Given the description of an element on the screen output the (x, y) to click on. 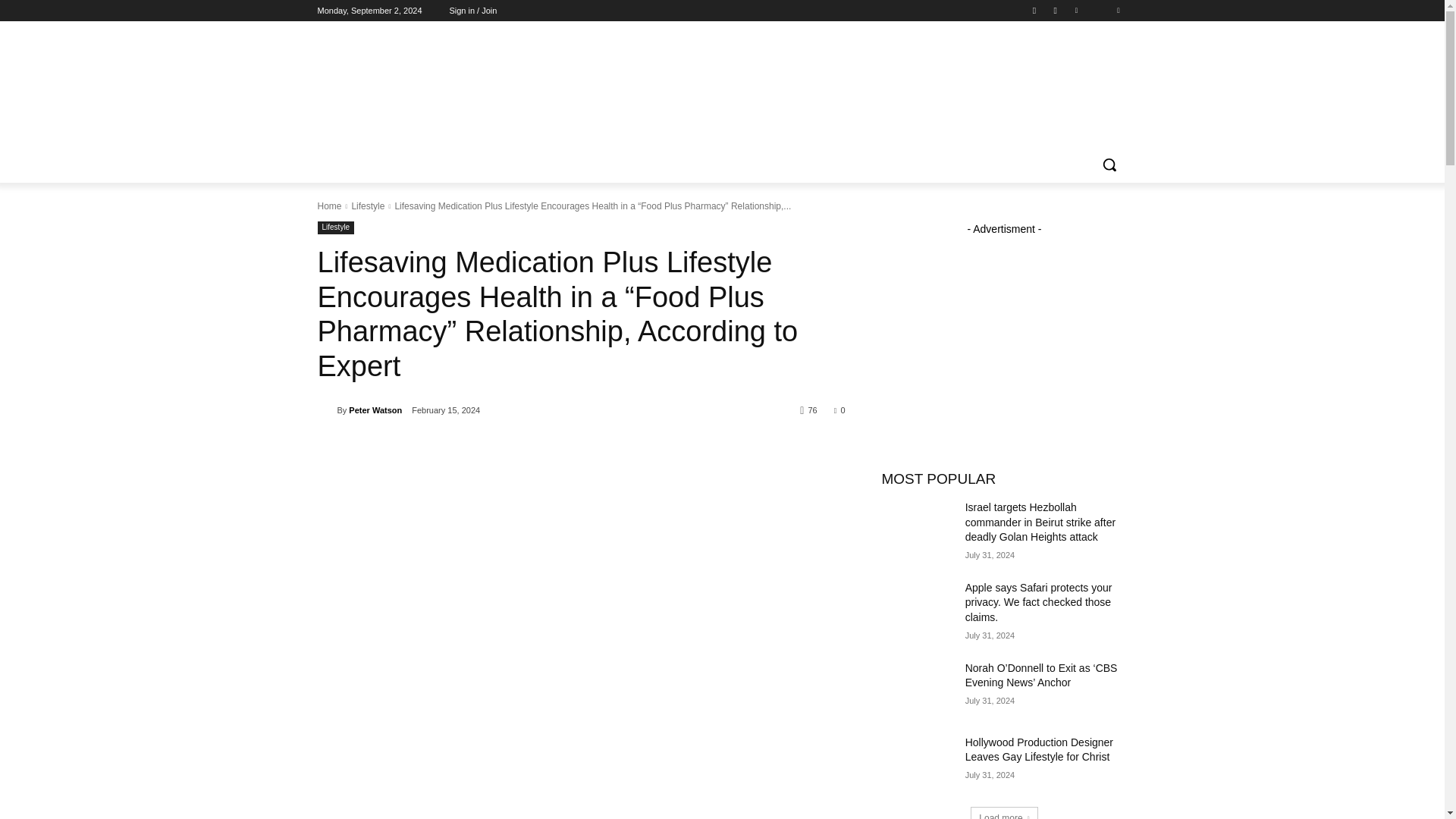
Pinterest (1075, 9)
WorldNewz247 Logo (721, 72)
Twitter (1117, 9)
Facebook (1034, 9)
Instagram (1055, 9)
Tumblr (1097, 9)
